Given the description of an element on the screen output the (x, y) to click on. 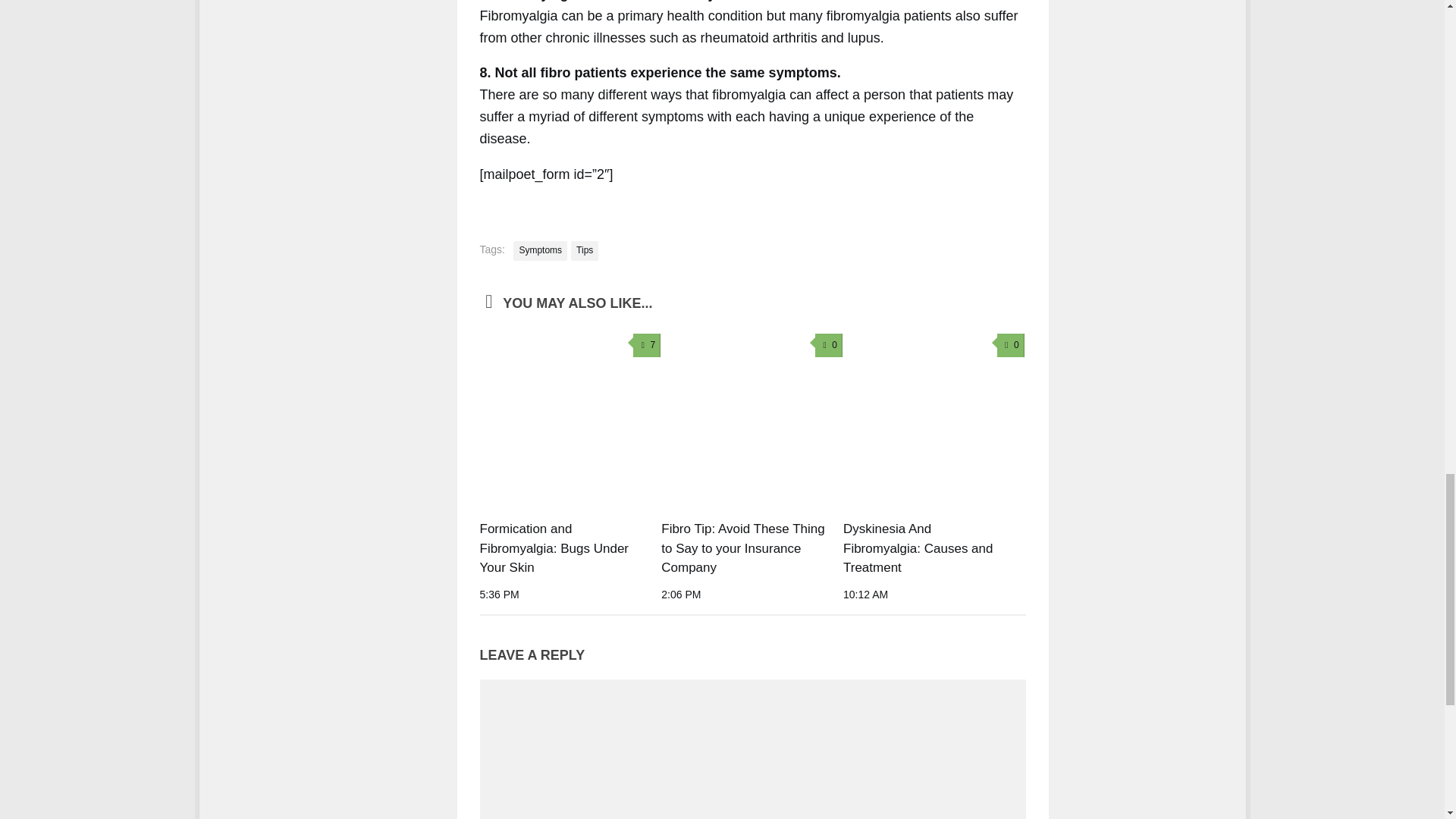
Comment Form (752, 753)
Tips (584, 250)
Symptoms (540, 250)
